Given the description of an element on the screen output the (x, y) to click on. 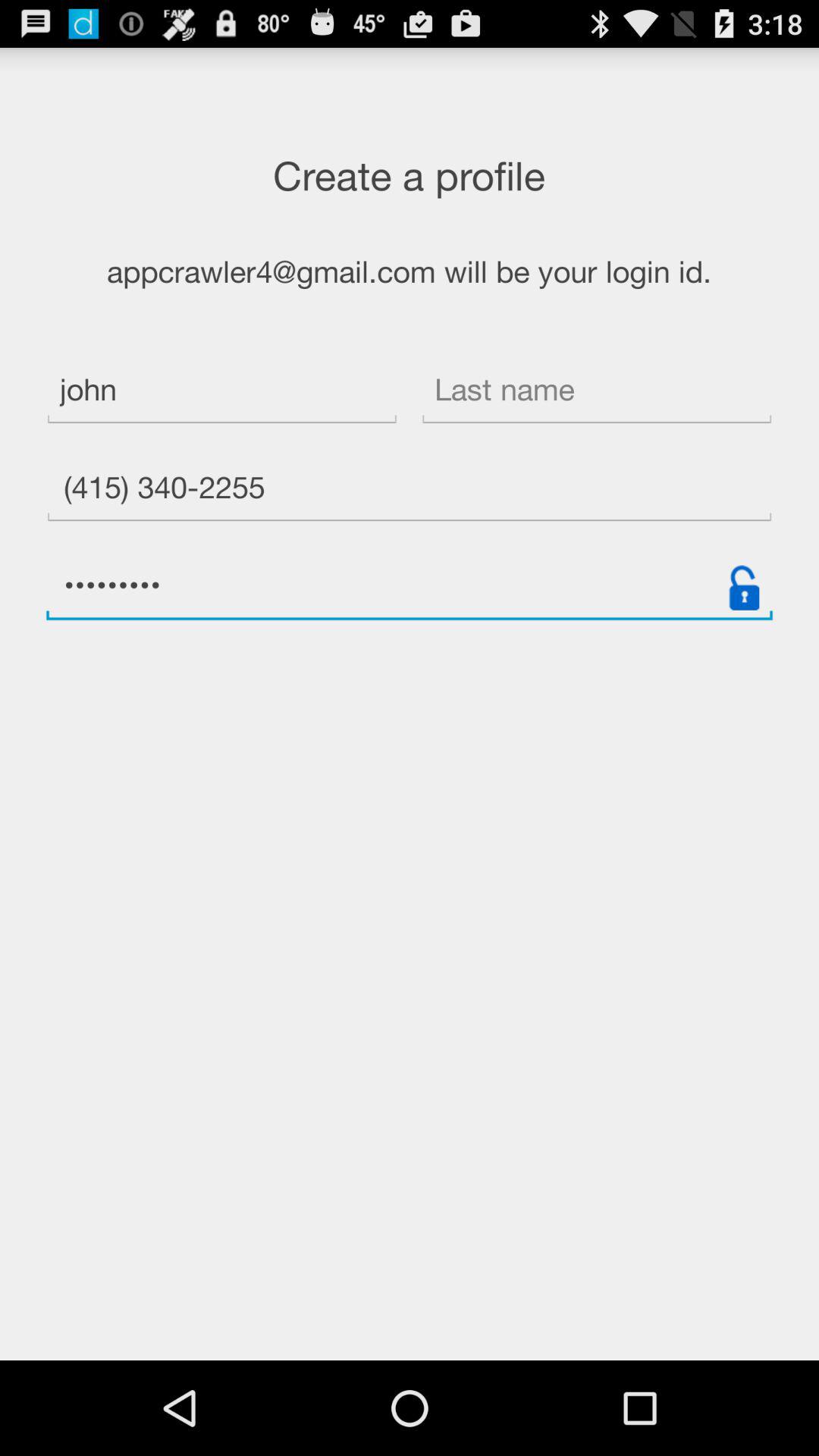
open item below the (415) 340-2255 item (409, 587)
